Given the description of an element on the screen output the (x, y) to click on. 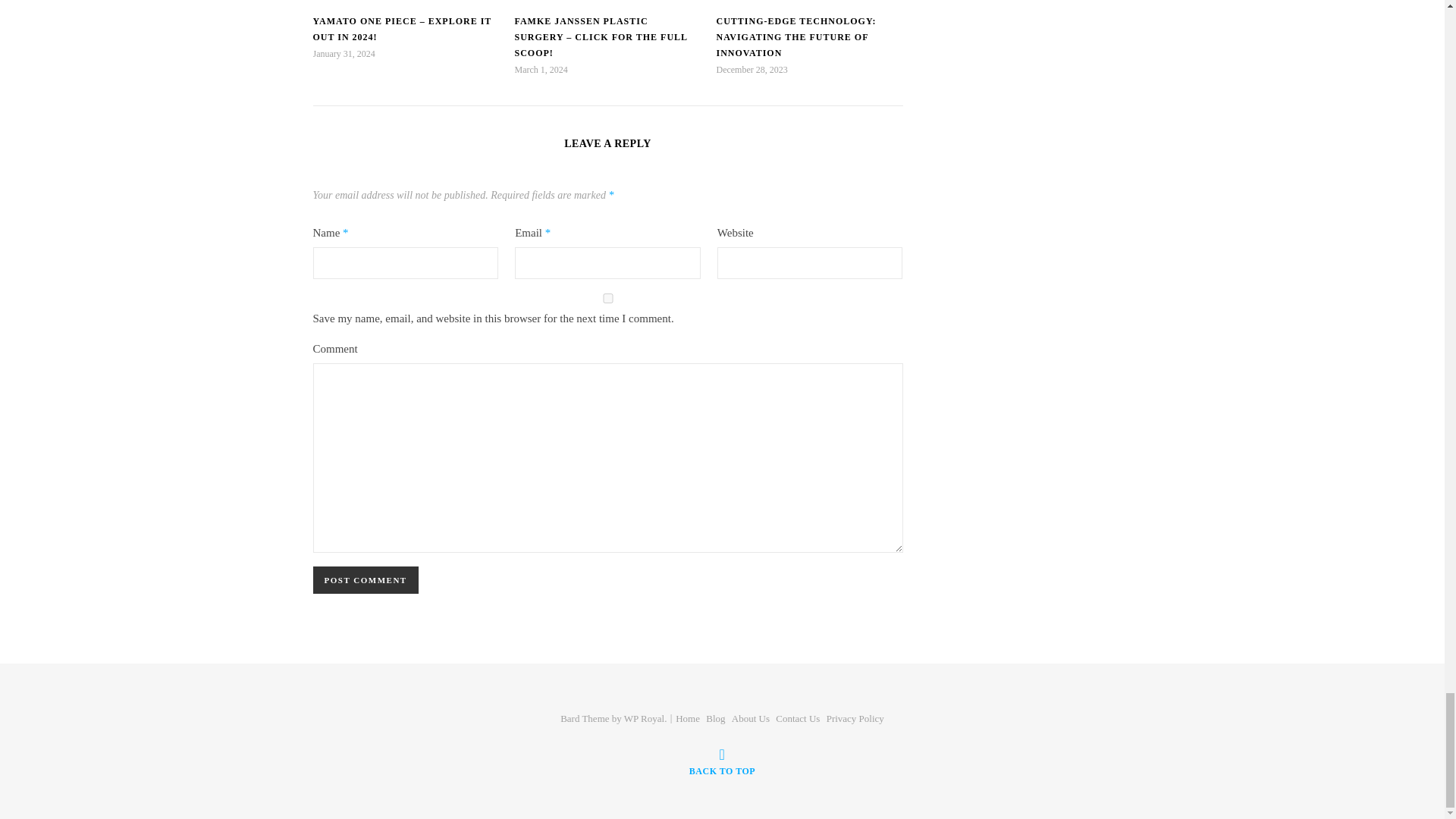
Post Comment (365, 579)
BACK TO TOP (722, 761)
yes (607, 298)
